Given the description of an element on the screen output the (x, y) to click on. 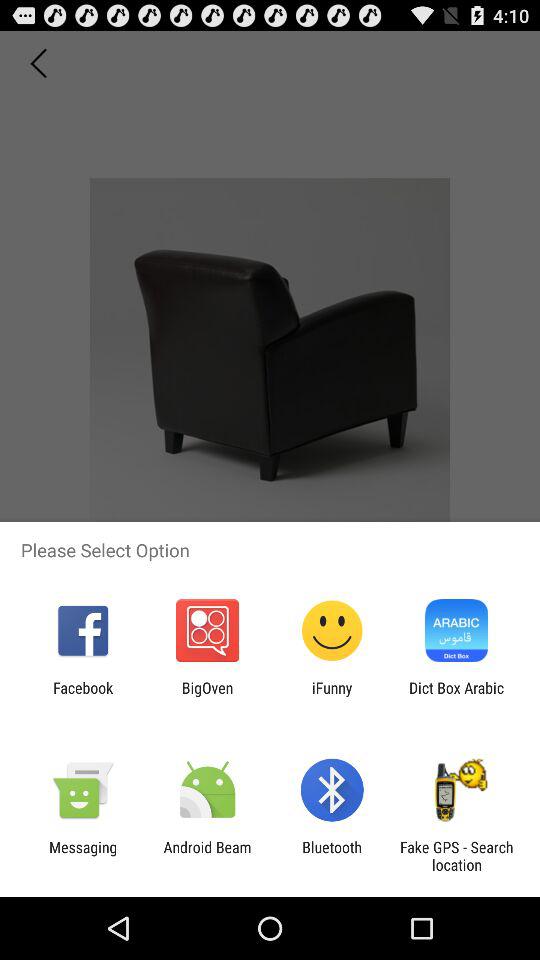
flip to facebook (83, 696)
